Given the description of an element on the screen output the (x, y) to click on. 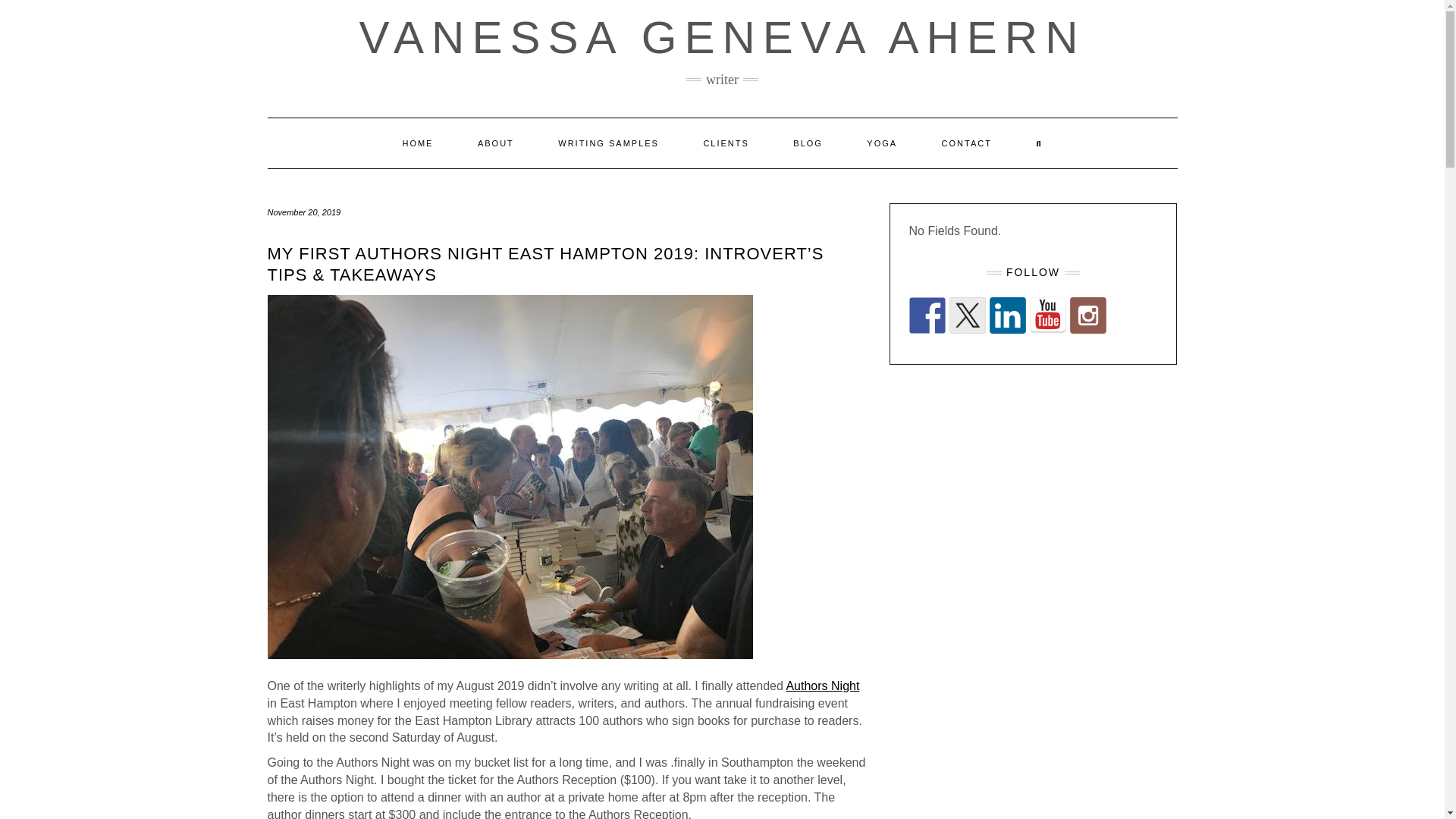
HOME (416, 142)
ABOUT (495, 142)
Find us on YouTube (1047, 315)
Follow us on Twitter (967, 315)
YOGA (881, 142)
Check out our instagram feed (1086, 315)
CLIENTS (725, 142)
VANESSA GENEVA AHERN (721, 37)
Find us on Linkedin (1006, 315)
Follow us on Facebook (926, 315)
CONTACT (966, 142)
BLOG (808, 142)
Authors Night (822, 685)
WRITING SAMPLES (608, 142)
